Given the description of an element on the screen output the (x, y) to click on. 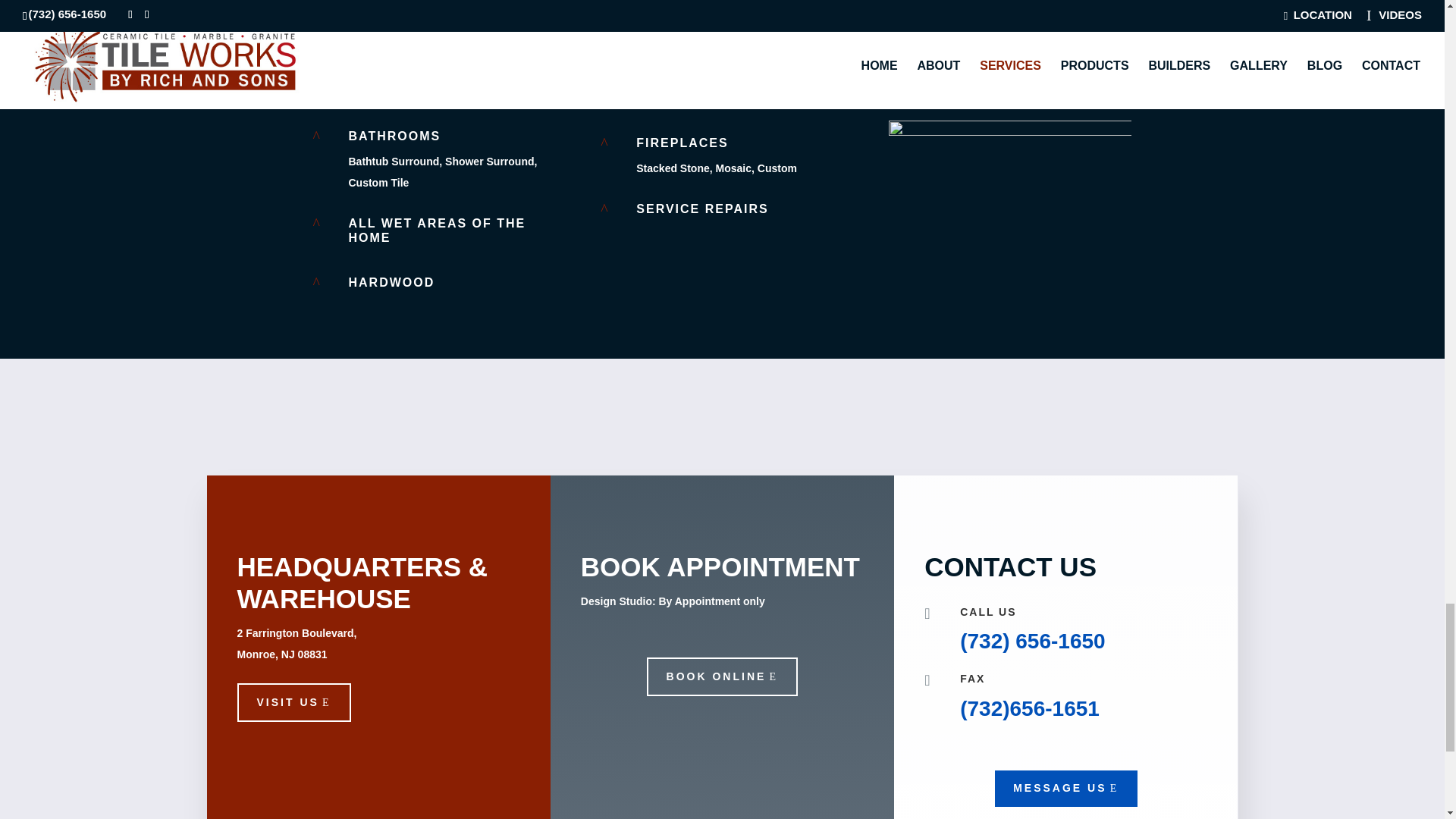
BOOK ONLINE (721, 676)
MESSAGE US (1065, 788)
VISIT US (292, 702)
tileworks 10-23 website friendly -81 (1009, 48)
tileworks 10-23 website friendly -36 (1009, 201)
